Given the description of an element on the screen output the (x, y) to click on. 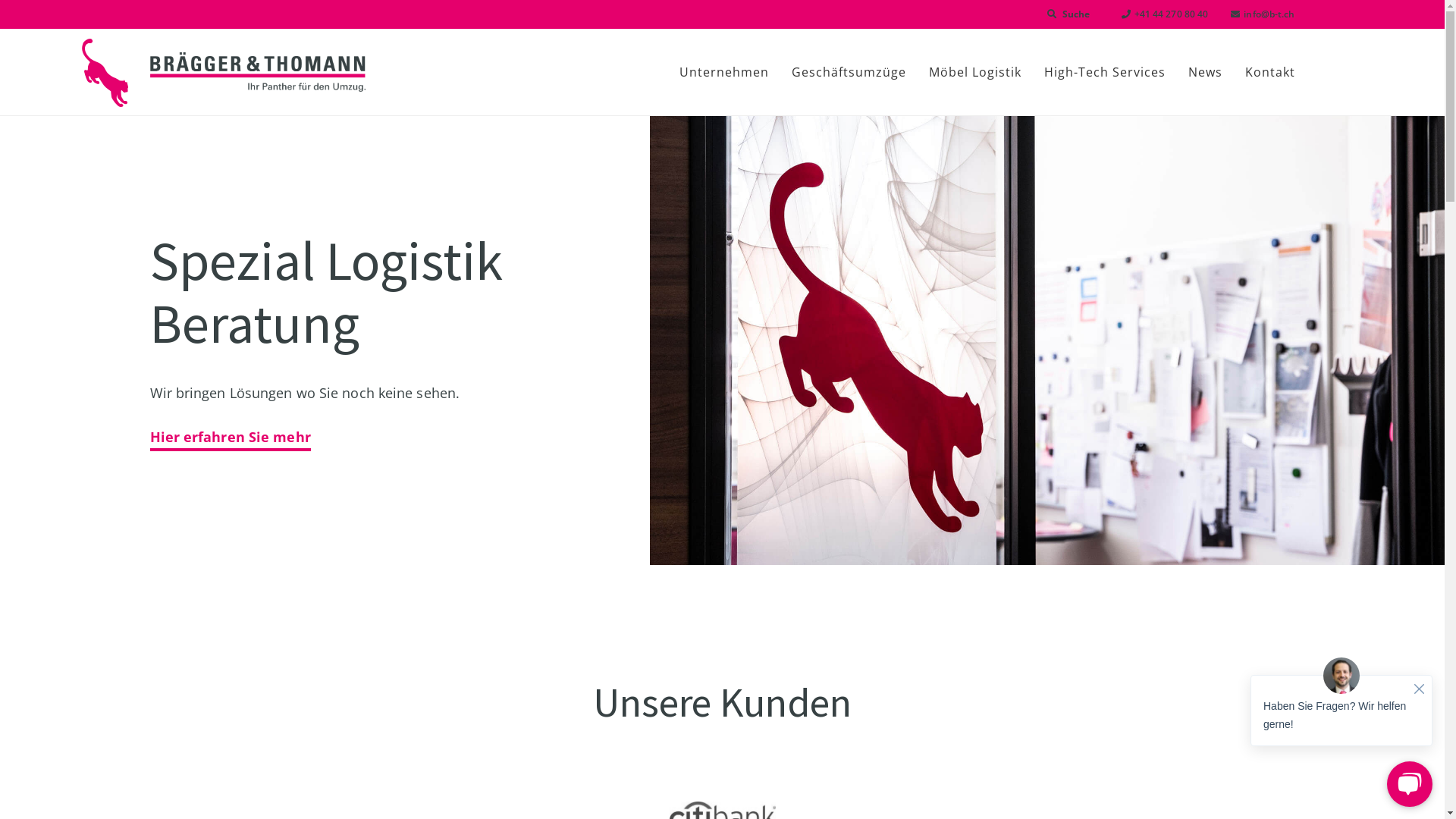
News Element type: text (1204, 71)
High-Tech Services Element type: text (1104, 71)
Unternehmen Element type: text (723, 71)
info@b-t.ch Element type: text (1251, 14)
+41 44 270 80 40 Element type: text (1153, 14)
Kontakt Element type: text (1263, 71)
Hier erfahren Sie mehr Element type: text (230, 438)
